Given the description of an element on the screen output the (x, y) to click on. 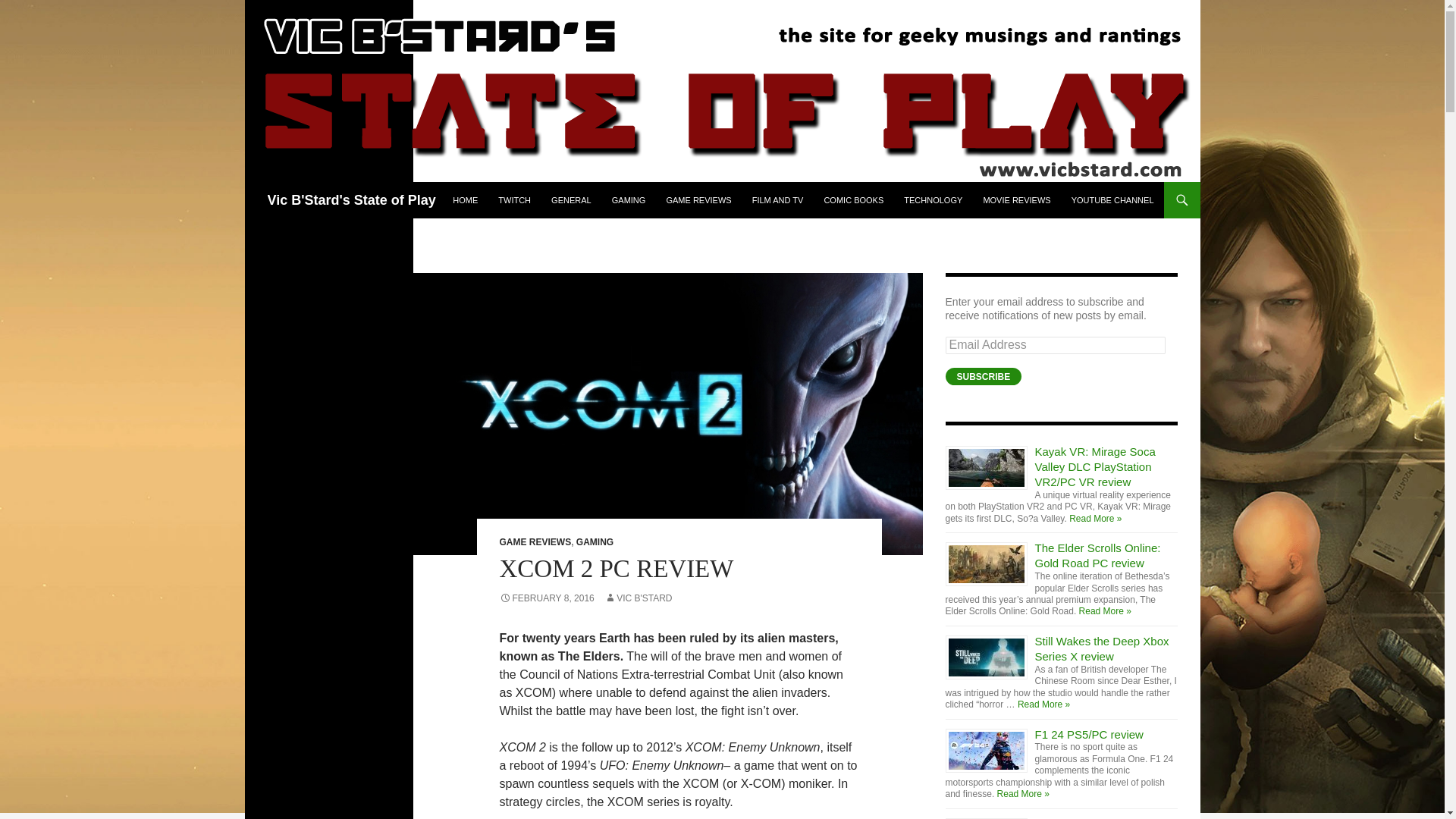
The Elder Scrolls Online: Gold Road PC review (1097, 555)
FEBRUARY 8, 2016 (546, 597)
Still Wakes the Deep Xbox Series X review (1102, 648)
GAMING (628, 199)
GAMING (594, 542)
Asus ROG Strix Z790-F Gaming WIFI motherboard review (1102, 818)
TWITCH (514, 199)
COMIC BOOKS (852, 199)
FILM AND TV (777, 199)
HOME (465, 199)
SUBSCRIBE (983, 375)
TECHNOLOGY (933, 199)
VIC B'STARD (637, 597)
GAME REVIEWS (697, 199)
